Given the description of an element on the screen output the (x, y) to click on. 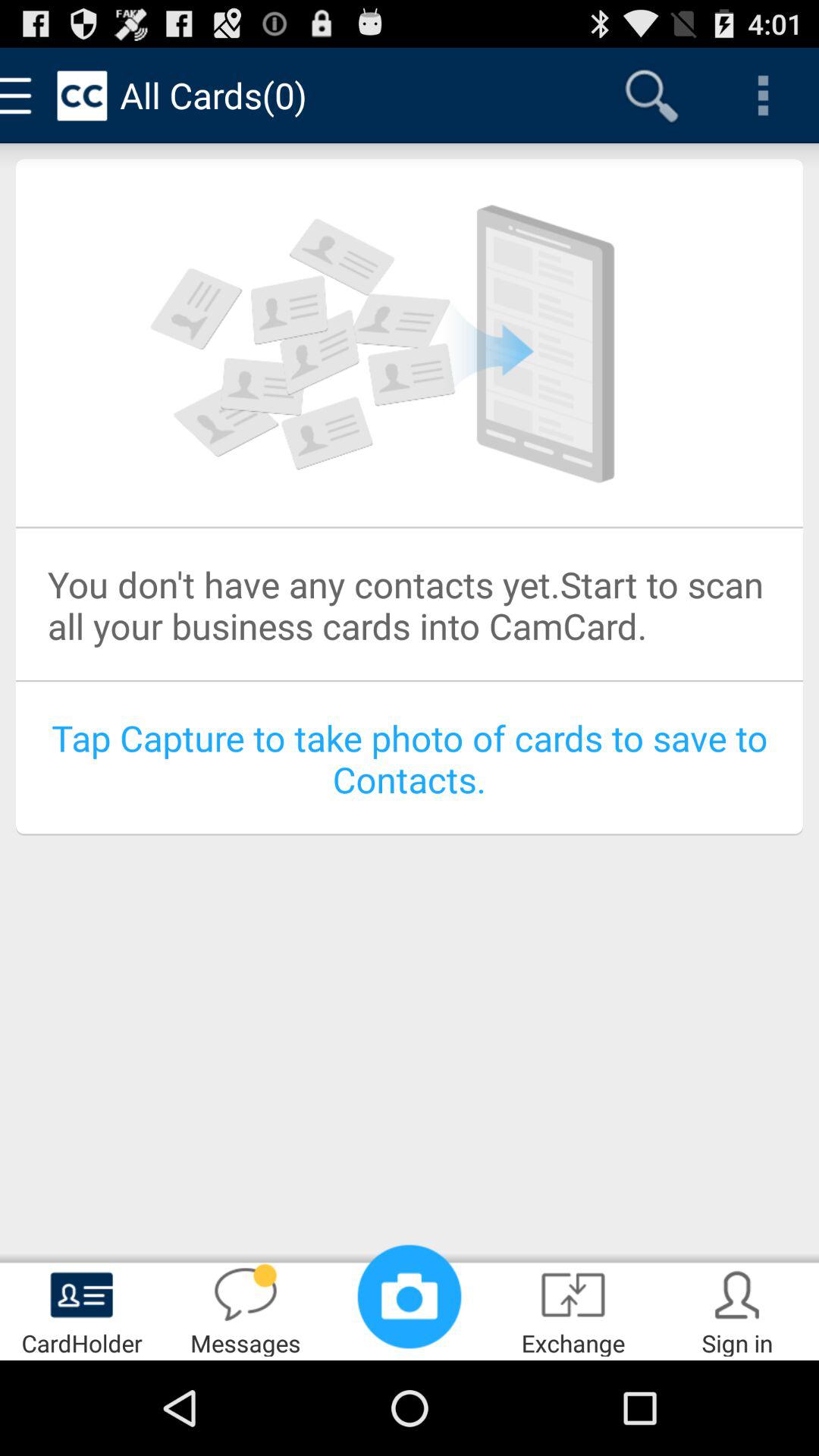
turn on the sign in item (737, 1309)
